Given the description of an element on the screen output the (x, y) to click on. 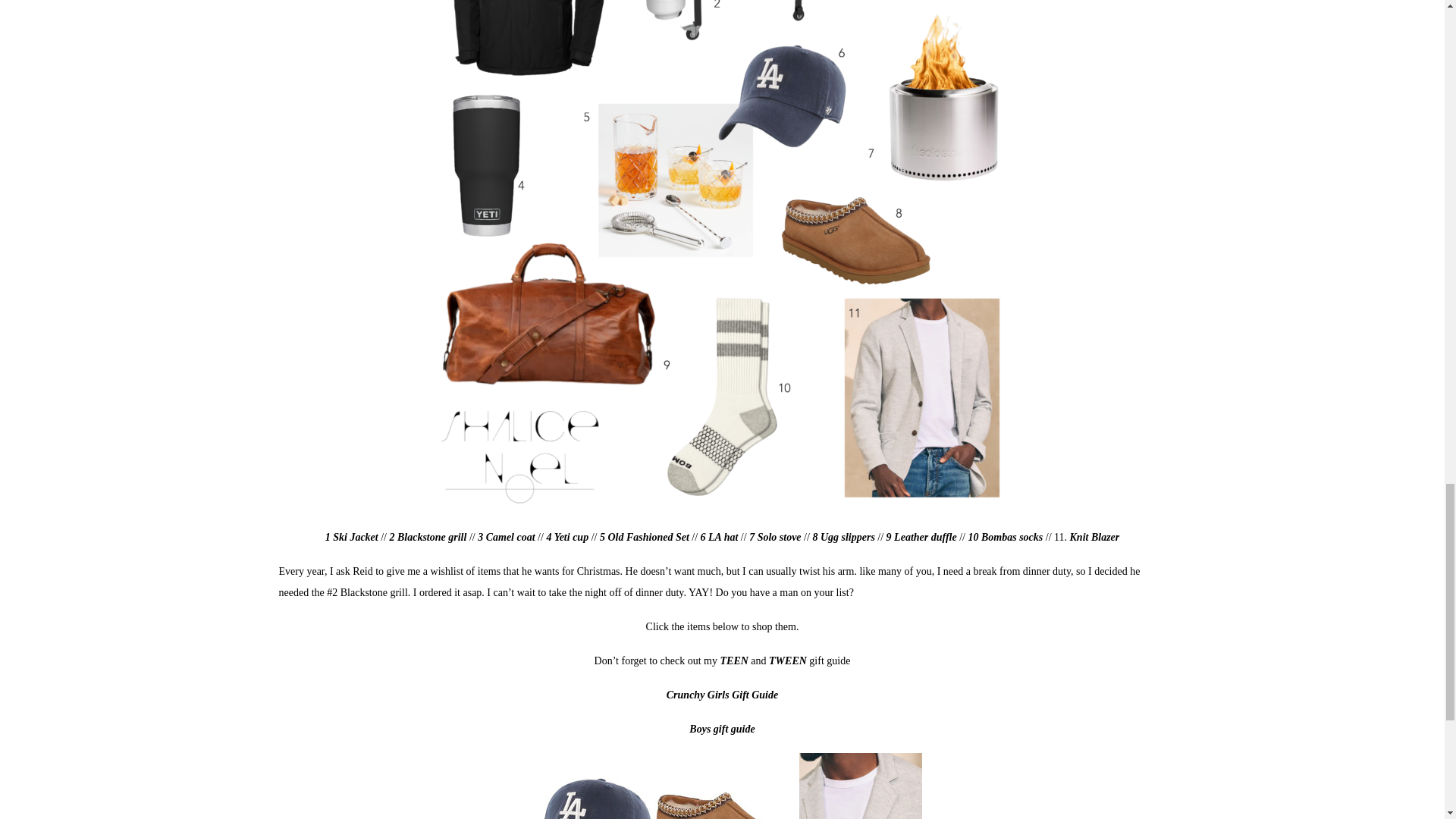
9 Leather duffle (921, 536)
Crunchy Girls Gift Guide (721, 695)
4 Yeti cup (567, 536)
TWEEN (788, 660)
Knit Blazer (1094, 536)
7 Solo stove (774, 536)
10 Bombas socks (1006, 536)
TEEN (735, 660)
Boys gift guide (721, 728)
6 LA hat (720, 536)
3 Camel coat (505, 536)
1 Ski Jacket (351, 536)
2 Blackstone grill (428, 536)
8 Ugg slippers (843, 536)
5 Old Fashioned Set (643, 536)
